Given the description of an element on the screen output the (x, y) to click on. 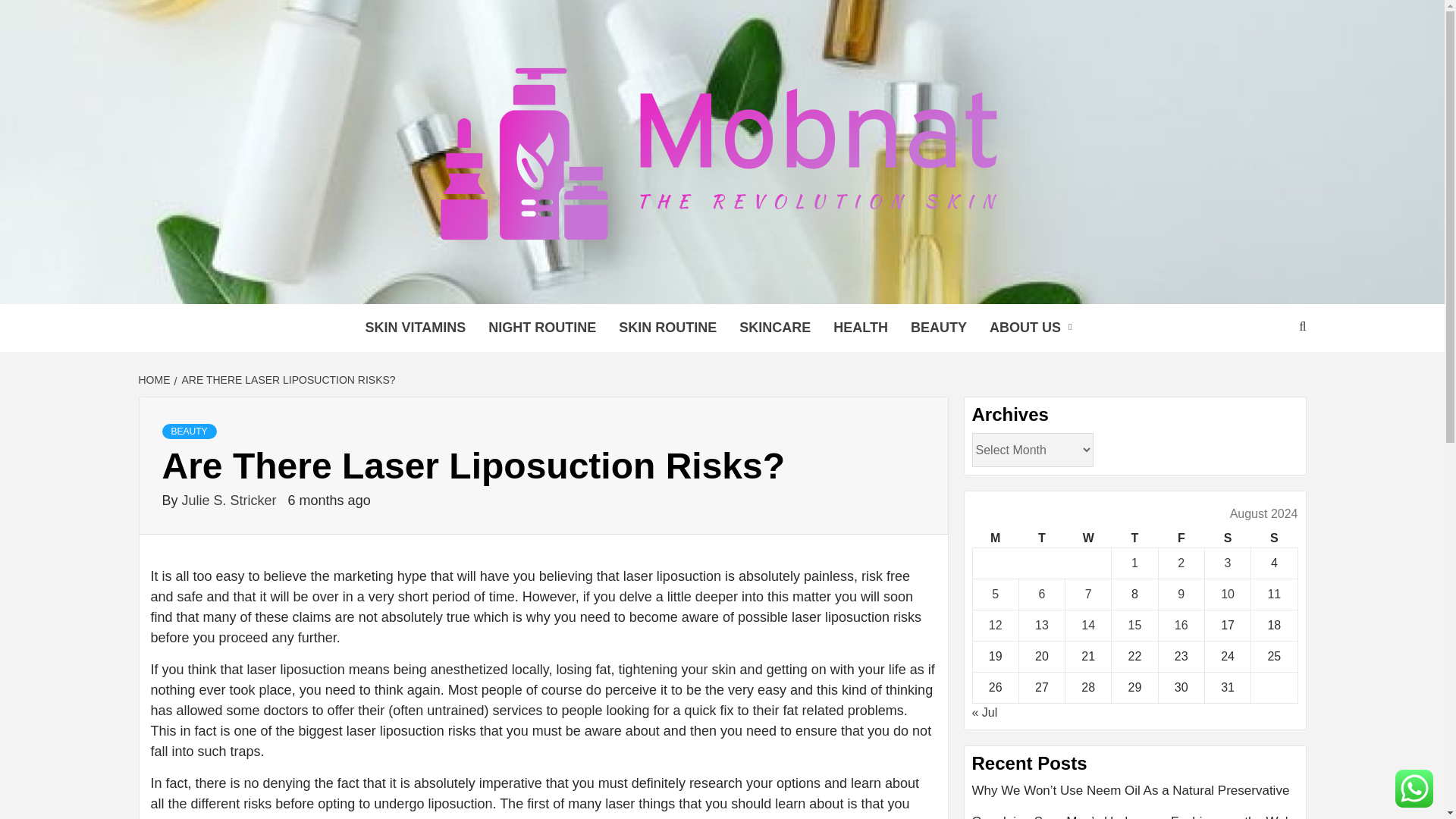
BEAUTY (938, 327)
13 (1041, 625)
HEALTH (860, 327)
Thursday (1134, 538)
Julie S. Stricker (231, 500)
Tuesday (1040, 538)
SKINCARE (775, 327)
SKIN VITAMINS (415, 327)
14 (1087, 625)
BEAUTY (188, 431)
